Given the description of an element on the screen output the (x, y) to click on. 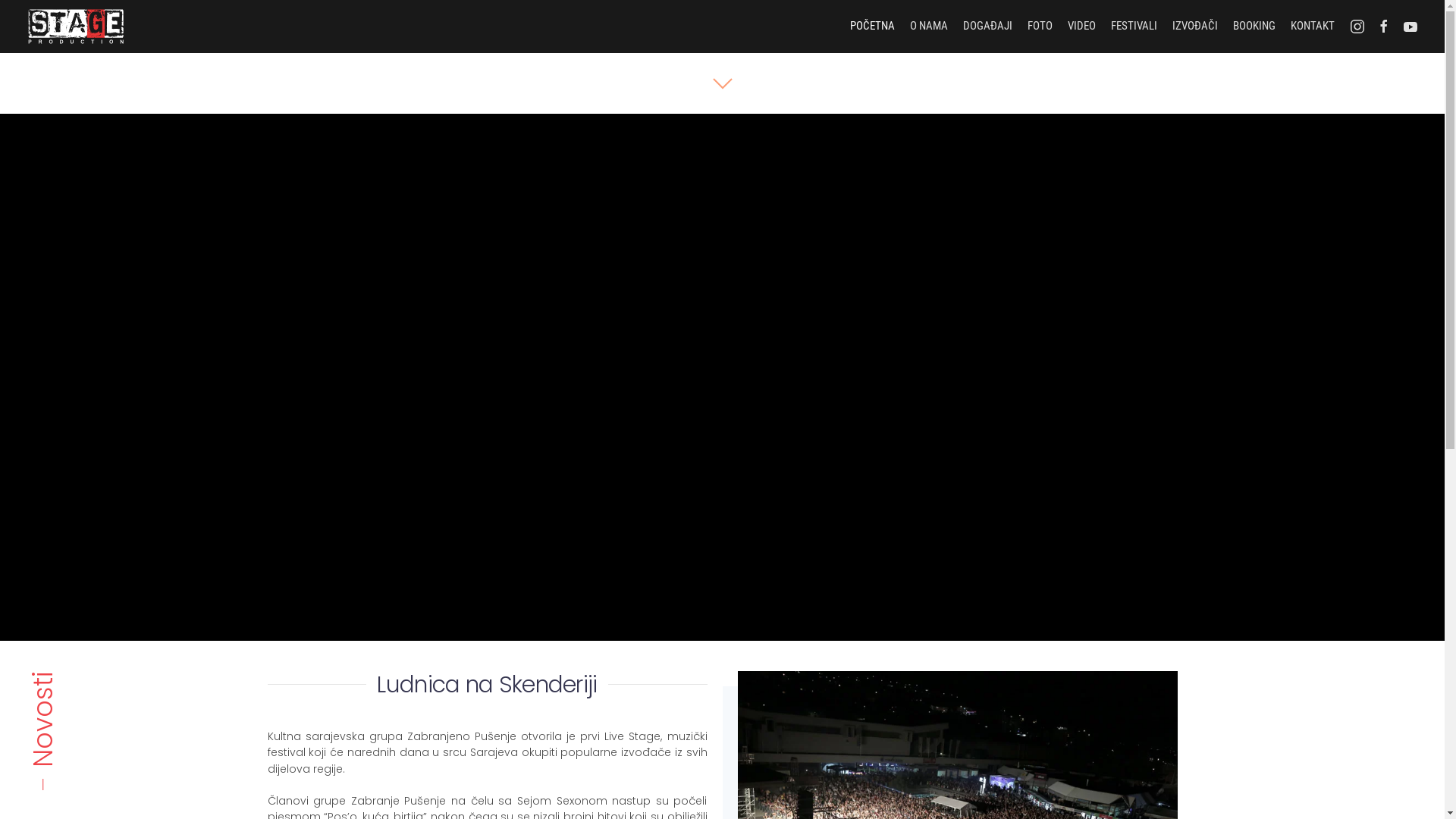
BOOKING Element type: text (1254, 26)
FESTIVALI Element type: text (1133, 26)
O NAMA Element type: text (928, 26)
KONTAKT Element type: text (1312, 26)
VIDEO Element type: text (1081, 26)
FOTO Element type: text (1039, 26)
